Given the description of an element on the screen output the (x, y) to click on. 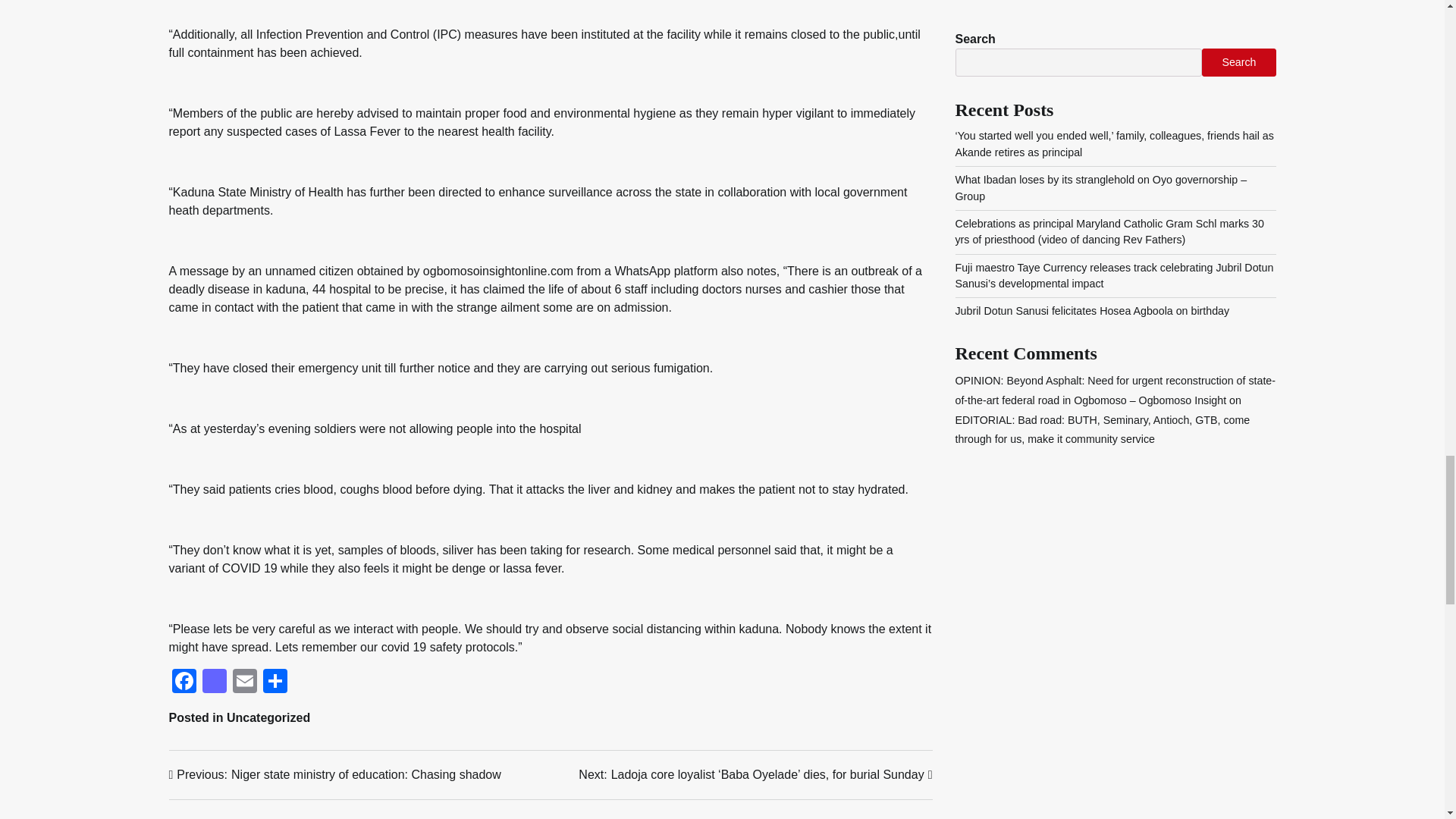
Mastodon (213, 682)
Email (243, 682)
Facebook (183, 682)
Mastodon (213, 682)
Facebook (183, 682)
Email (334, 774)
